Given the description of an element on the screen output the (x, y) to click on. 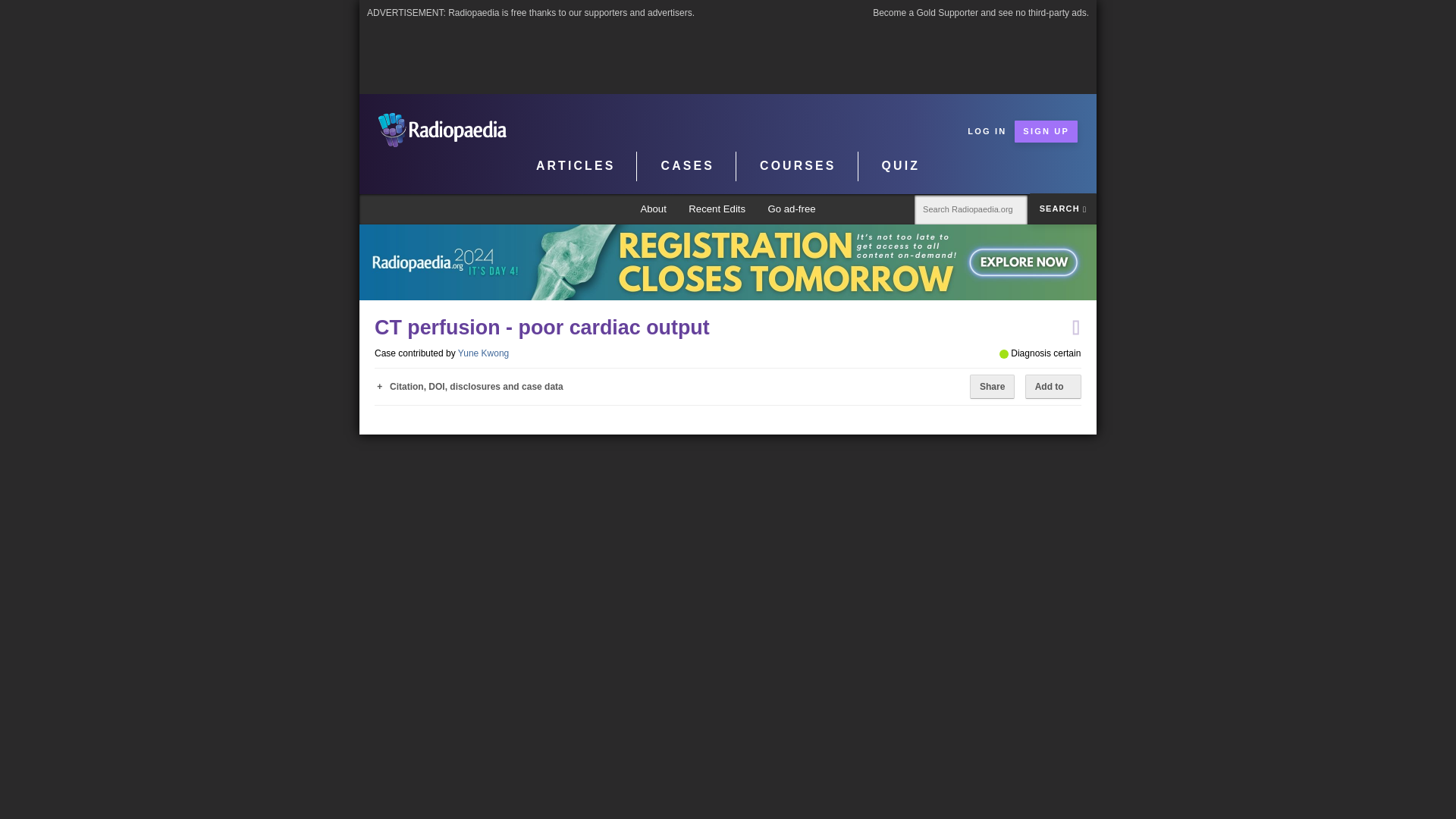
Favourite this case (1075, 327)
Share (991, 386)
LOG IN (986, 131)
SEARCH (1062, 208)
CASES (688, 166)
Recent Edits (716, 209)
SIGN UP (1045, 131)
COURSES (798, 166)
Add to (1053, 386)
EXPLORE NOW (727, 262)
Yune Kwong (483, 353)
ARTICLES (576, 166)
QUIZ (901, 166)
Share Case (991, 386)
Go ad-free (791, 209)
